Given the description of an element on the screen output the (x, y) to click on. 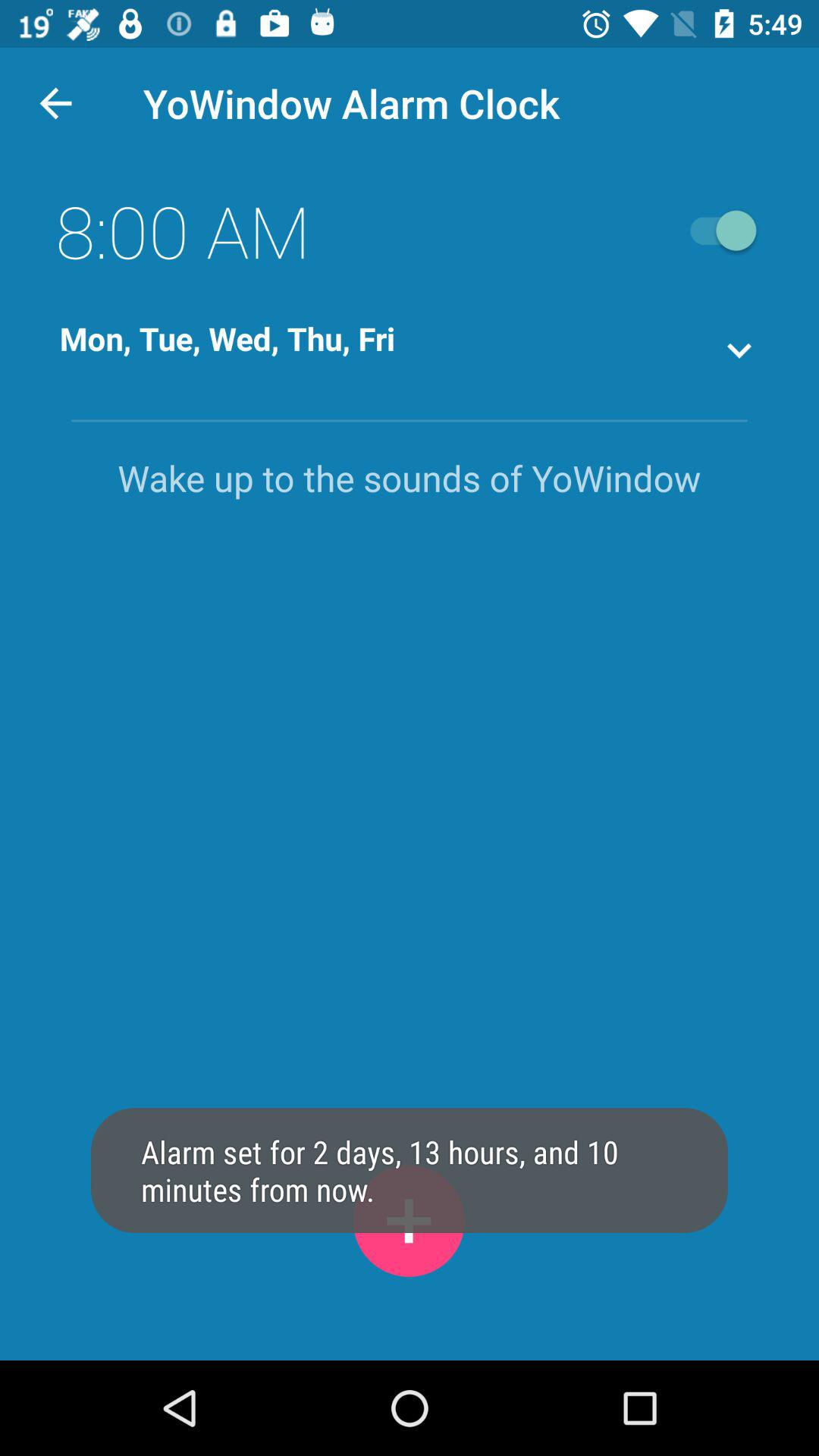
auto -play button (715, 230)
